Given the description of an element on the screen output the (x, y) to click on. 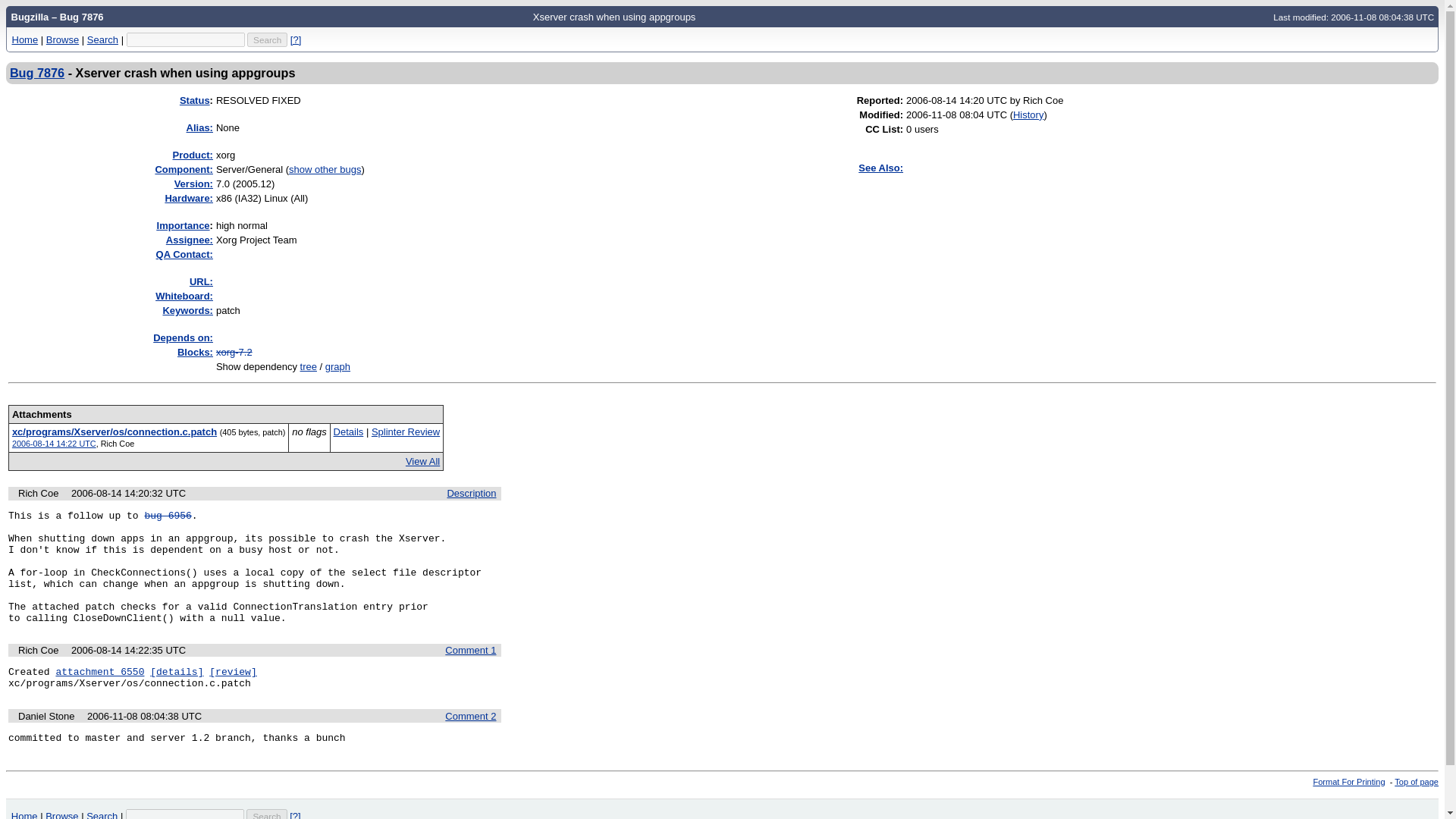
Home (25, 39)
The person in charge of resolving the bug. (188, 239)
attachment 6550 (99, 672)
Comment 1 (470, 650)
Blocks: (194, 351)
Product: (192, 154)
Hardware: (188, 197)
See Also: (880, 167)
Importance (183, 225)
Details (348, 431)
Depends on: (182, 337)
Quick Search (185, 38)
Keywords: (186, 310)
History (1028, 114)
